Given the description of an element on the screen output the (x, y) to click on. 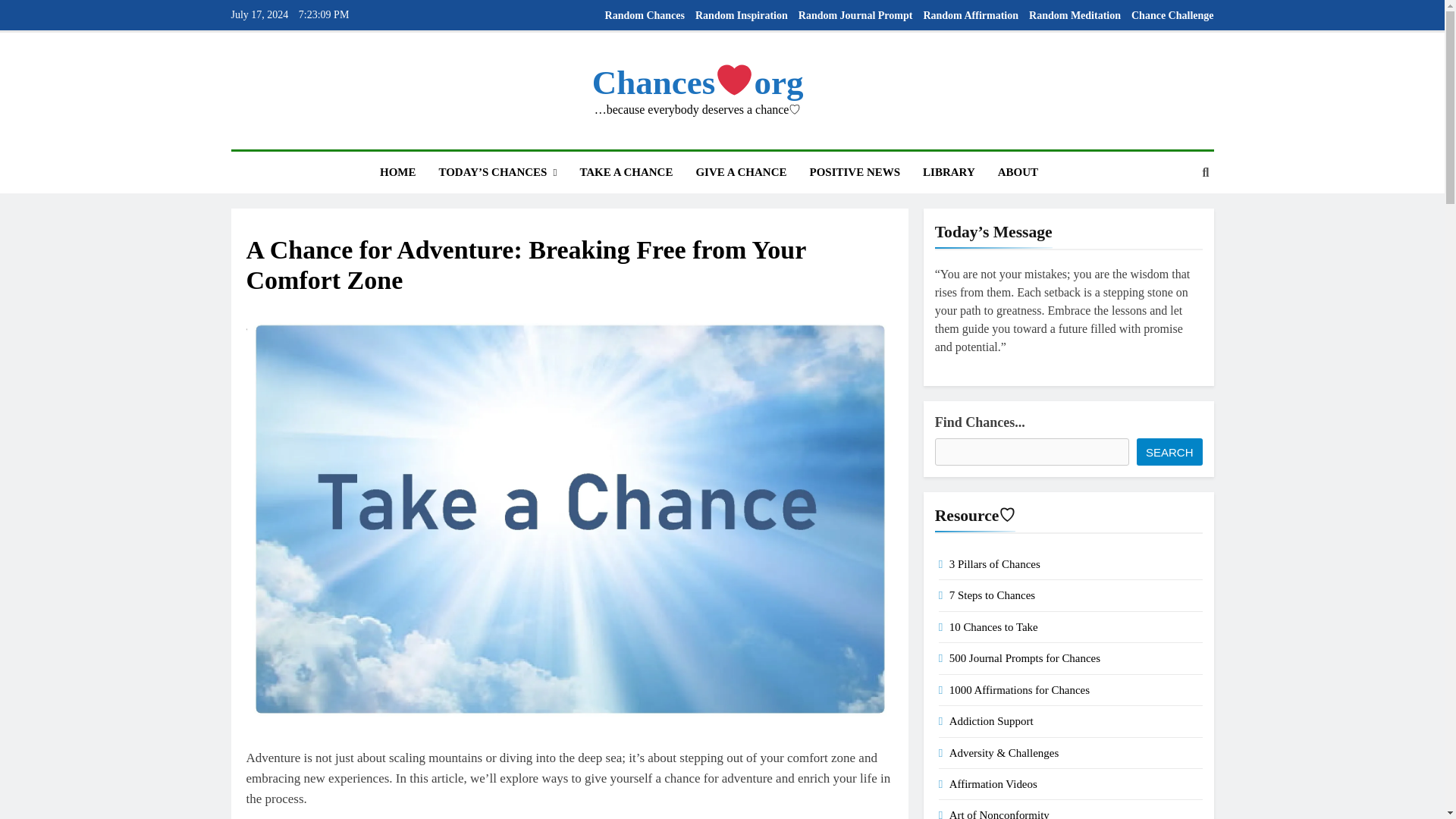
Chancesorg (697, 82)
Random Inspiration (741, 15)
TAKE A CHANCE (625, 171)
Random Journal Prompt (854, 15)
7 Steps to Chances (992, 594)
10 Chances to Take (993, 626)
LIBRARY (949, 171)
Random Affirmation (970, 15)
HOME (398, 171)
POSITIVE NEWS (854, 171)
Chance Challenge (1172, 15)
3 Pillars of Chances (995, 563)
Random Meditation (1075, 15)
Random Chances (644, 15)
ABOUT (1018, 171)
